Given the description of an element on the screen output the (x, y) to click on. 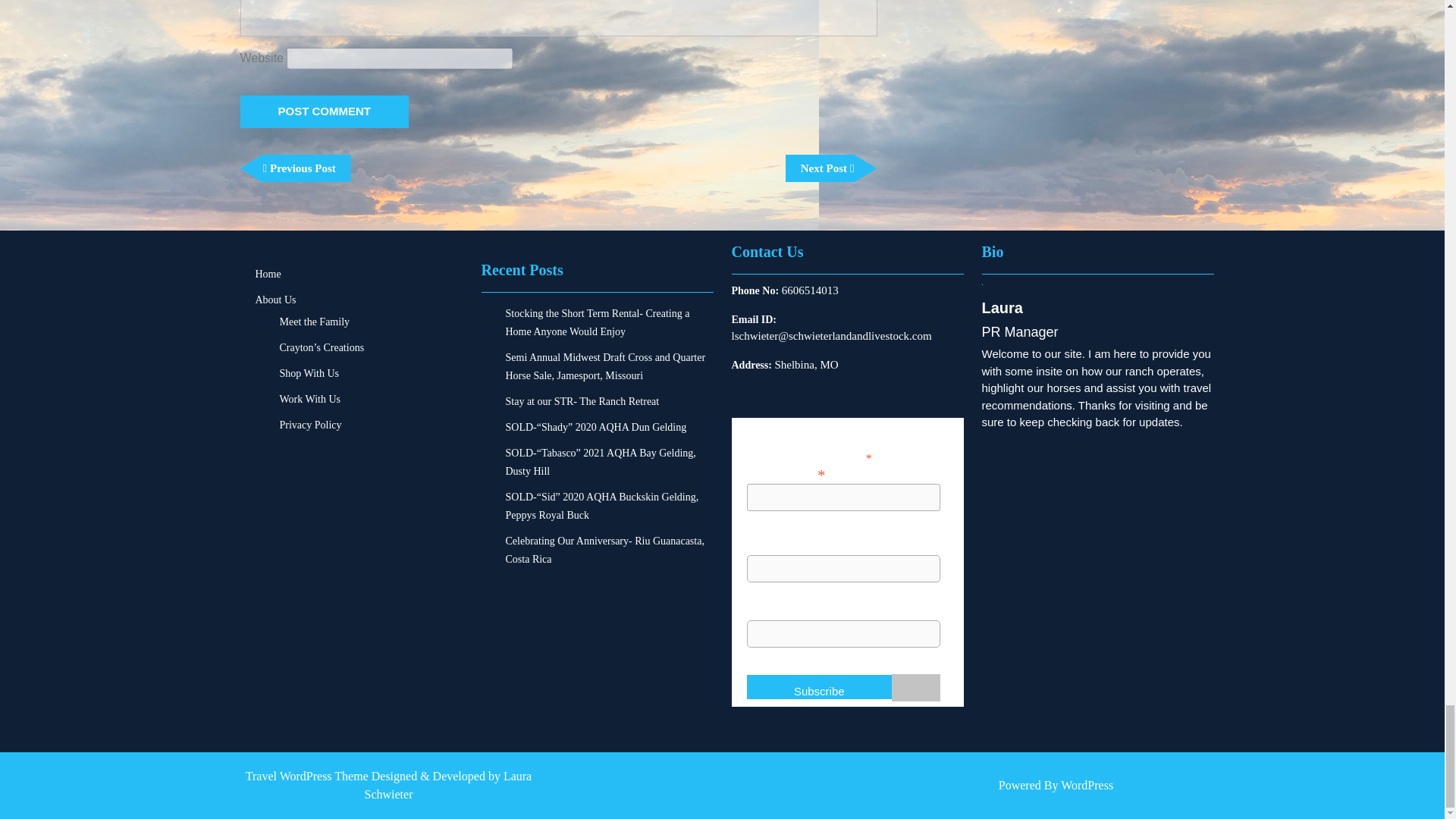
Subscribe (818, 686)
Mailchimp - email marketing made easy and fun (915, 698)
Post Comment (324, 111)
